Given the description of an element on the screen output the (x, y) to click on. 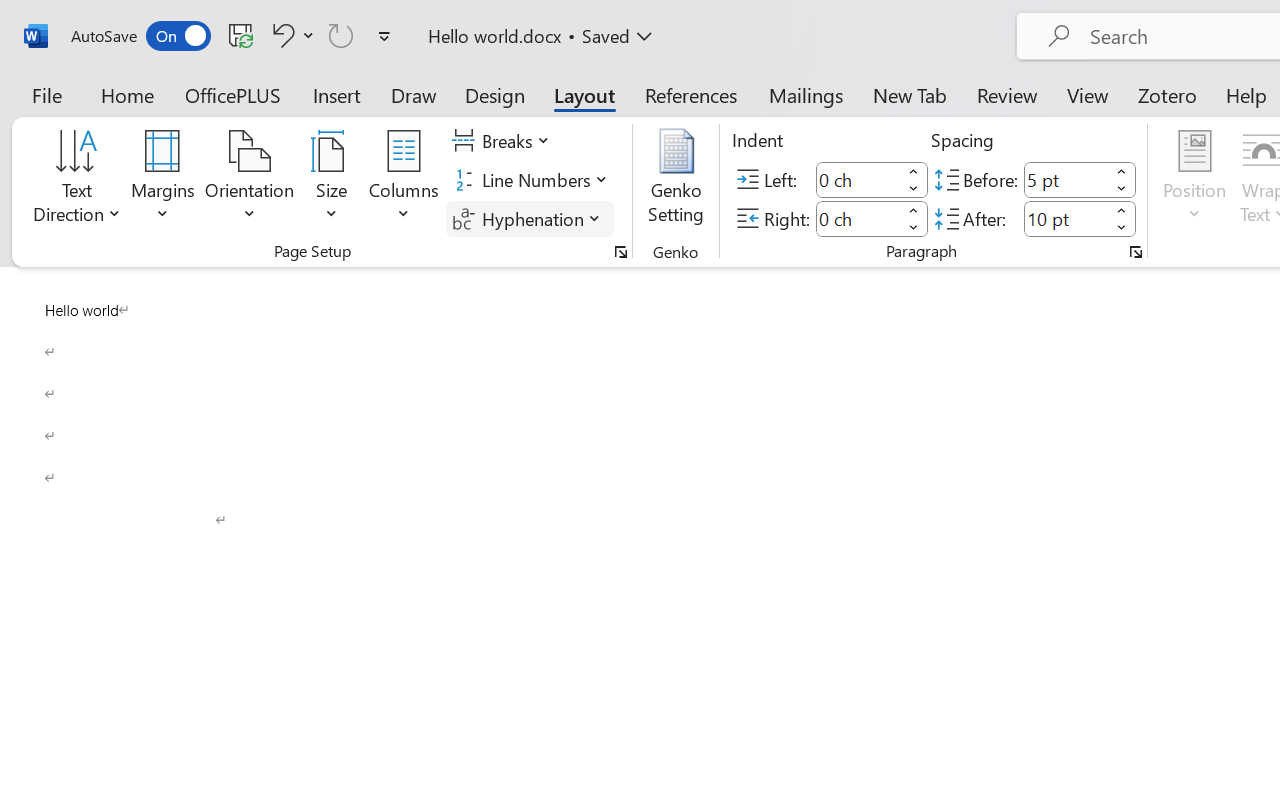
Spacing After (1066, 218)
Page Setup... (621, 252)
Columns (404, 179)
Customize Quick Access Toolbar (384, 35)
Indent Left (858, 179)
More Options (308, 35)
File Tab (46, 94)
Text Direction (77, 179)
Size (331, 179)
Quick Access Toolbar (233, 36)
Margins (163, 179)
Undo Apply Quick Style Set (280, 35)
